Given the description of an element on the screen output the (x, y) to click on. 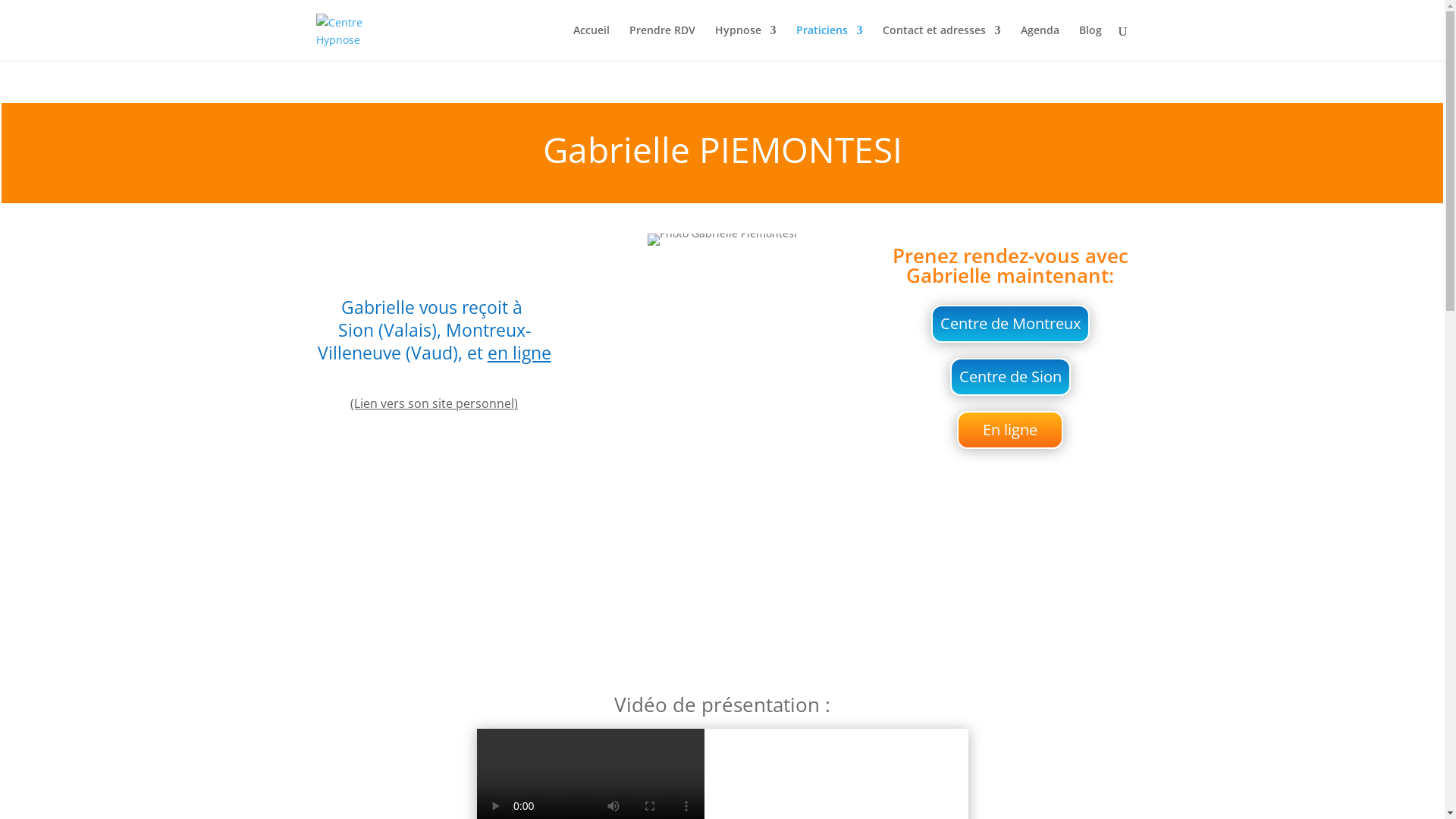
En ligne Element type: text (1010, 429)
Contact et adresses Element type: text (941, 42)
Hypnose Element type: text (744, 42)
Centre de Montreux Element type: text (1010, 323)
Centre de Sion Element type: text (1010, 376)
Photo Gabrielle Piemontesi Element type: hover (722, 239)
Blog Element type: text (1089, 42)
en ligne Element type: text (519, 352)
Praticiens Element type: text (829, 42)
Agenda Element type: text (1039, 42)
Accueil Element type: text (591, 42)
Prendre RDV Element type: text (662, 42)
